Given the description of an element on the screen output the (x, y) to click on. 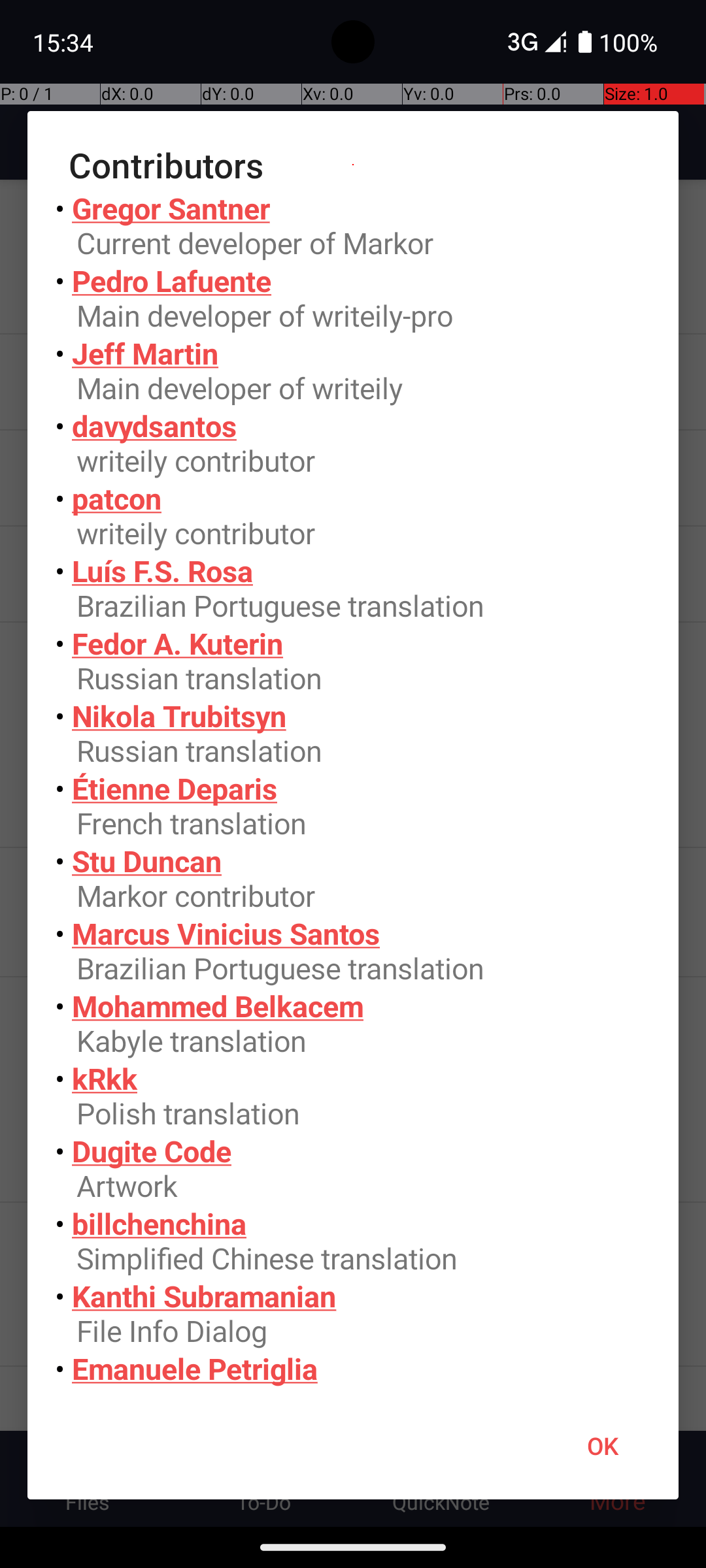
• Gregor Santner
   Current developer of Markor
• Pedro Lafuente
   Main developer of writeily-pro
• Jeff Martin
   Main developer of writeily
• davydsantos
   writeily contributor
• patcon
   writeily contributor
• Luís F.S. Rosa
   Brazilian Portuguese translation
• Fedor A. Kuterin
   Russian translation
• Nikola Trubitsyn
   Russian translation
• Étienne Deparis
   French translation
• Stu Duncan
   Markor contributor
• Marcus Vinicius Santos
   Brazilian Portuguese translation
• Mohammed Belkacem
   Kabyle translation
• kRkk
   Polish translation
• Dugite Code
   Artwork
• billchenchina
   Simplified Chinese translation
• Kanthi Subramanian
   File Info Dialog
• Emanuele Petriglia
   Italian translation
• Tiago Danin
   Brazilian Portuguese translation
• Jesica Chu
   Spanish and Traiditonal Chinese translation
• Ankush S Shetkar
   Added Chrome custom tabs for urls
• Lars Pontoppidan
   Danish translation
• Amaya Lim
   Improve project description
• Jawkwon Im
   Add keep screen on
• Mark Goldman
   Added sorting for todo.txt, improved wiki
• natanelho
   Hebrew translation
• Alexander Sachse
   Added simple word counter
• Kyle Phelps
   Added functionality to share multiple files from file browser
• Vladislav Glinsky
   Ukrainian/Russian translations
• David Hebbeker
   Added tooltips for text actions.
• Harshad Srinivasan
   Added functionality to handle leading spaces in lists.
• Niels
   Added encryption for textfile contents.
• Helguli
   Added fast scroll to editor.
• Patricia Heimfarth
   Added checkbox for todo completion date
• Peter Schwede
   Added Zim-Wiki support.
• Frederic Jacob
   Added Zim-Wiki highlighting, text actions, view mode, page creation.
• Winston Feng
   Support spaces in URL.
• k3b
   Added CSV-Support.
 Element type: android.widget.TextView (352, 790)
